Given the description of an element on the screen output the (x, y) to click on. 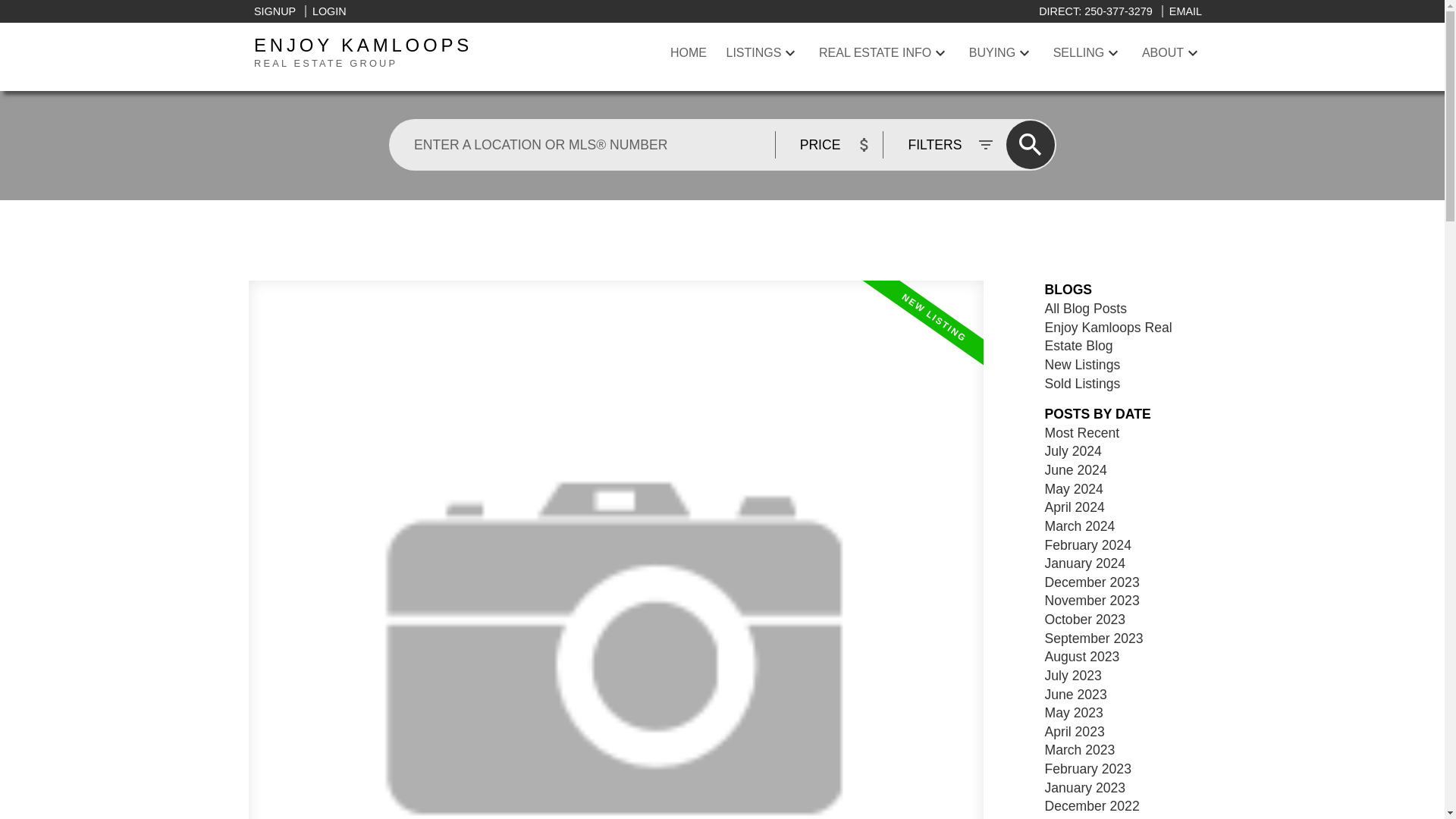
DIRECT: 250-377-3279 (1097, 10)
July 2024 (409, 52)
SIGNUP (1073, 450)
New Listings (274, 10)
Sold Listings (1083, 364)
Enjoy Kamloops Real Estate Blog (1083, 383)
Most Recent (1108, 336)
HOME (1082, 432)
All Blog Posts (687, 53)
